Given the description of an element on the screen output the (x, y) to click on. 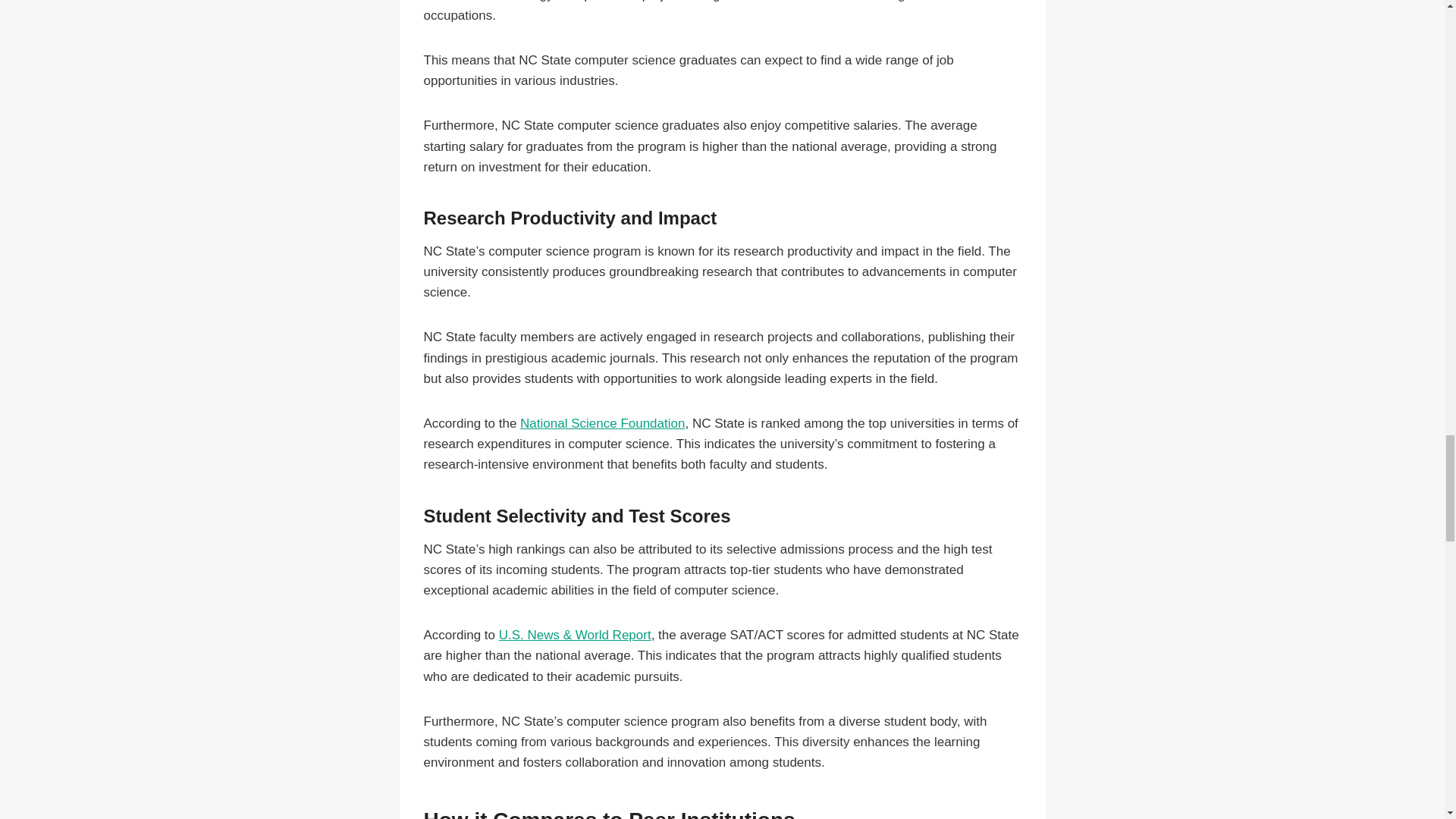
National Science Foundation (601, 423)
